Given the description of an element on the screen output the (x, y) to click on. 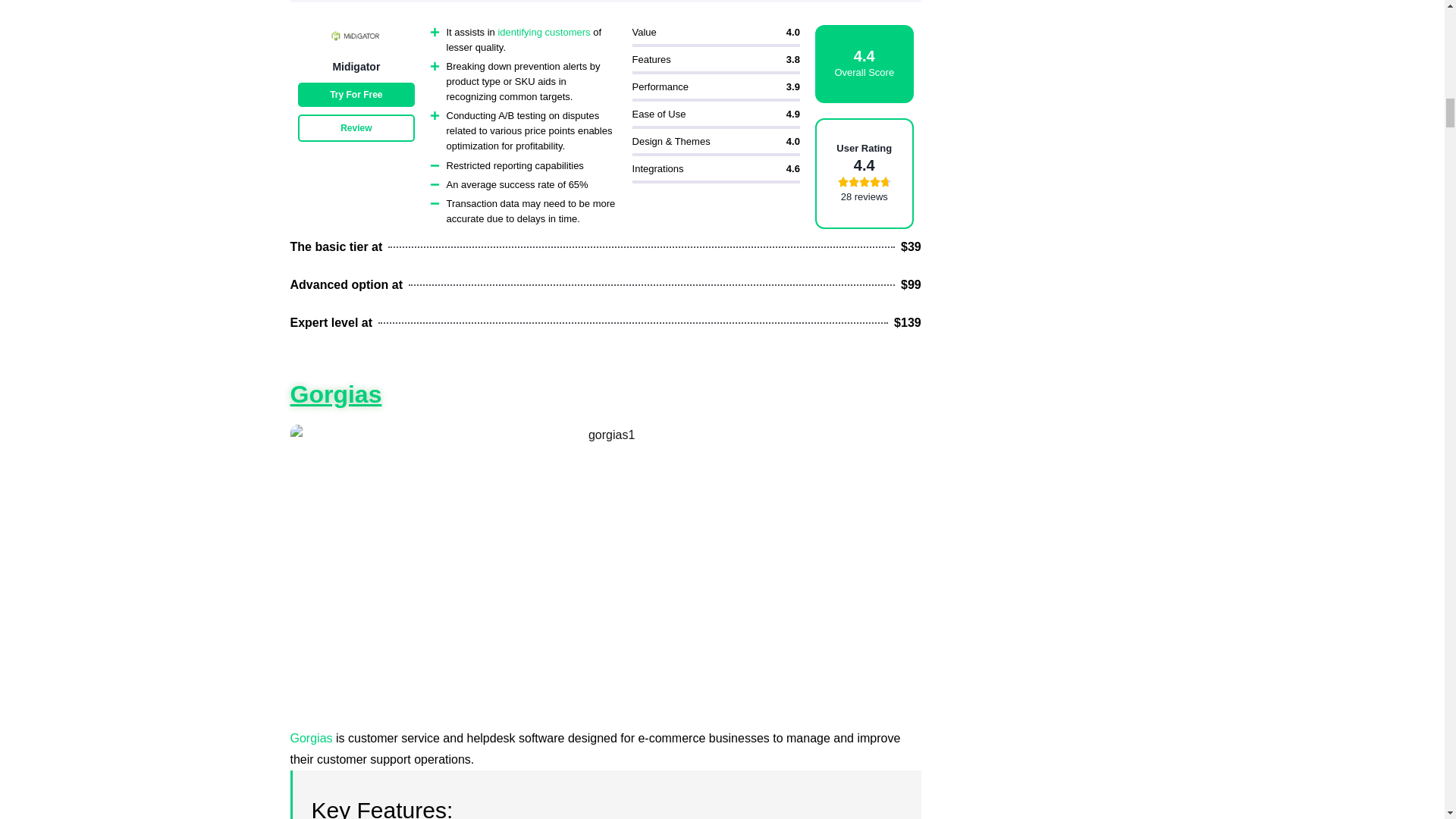
Try For Free (355, 94)
Review (355, 127)
Gorgias1 (335, 393)
identifying customers (543, 31)
Gorgias1 (310, 738)
